Given the description of an element on the screen output the (x, y) to click on. 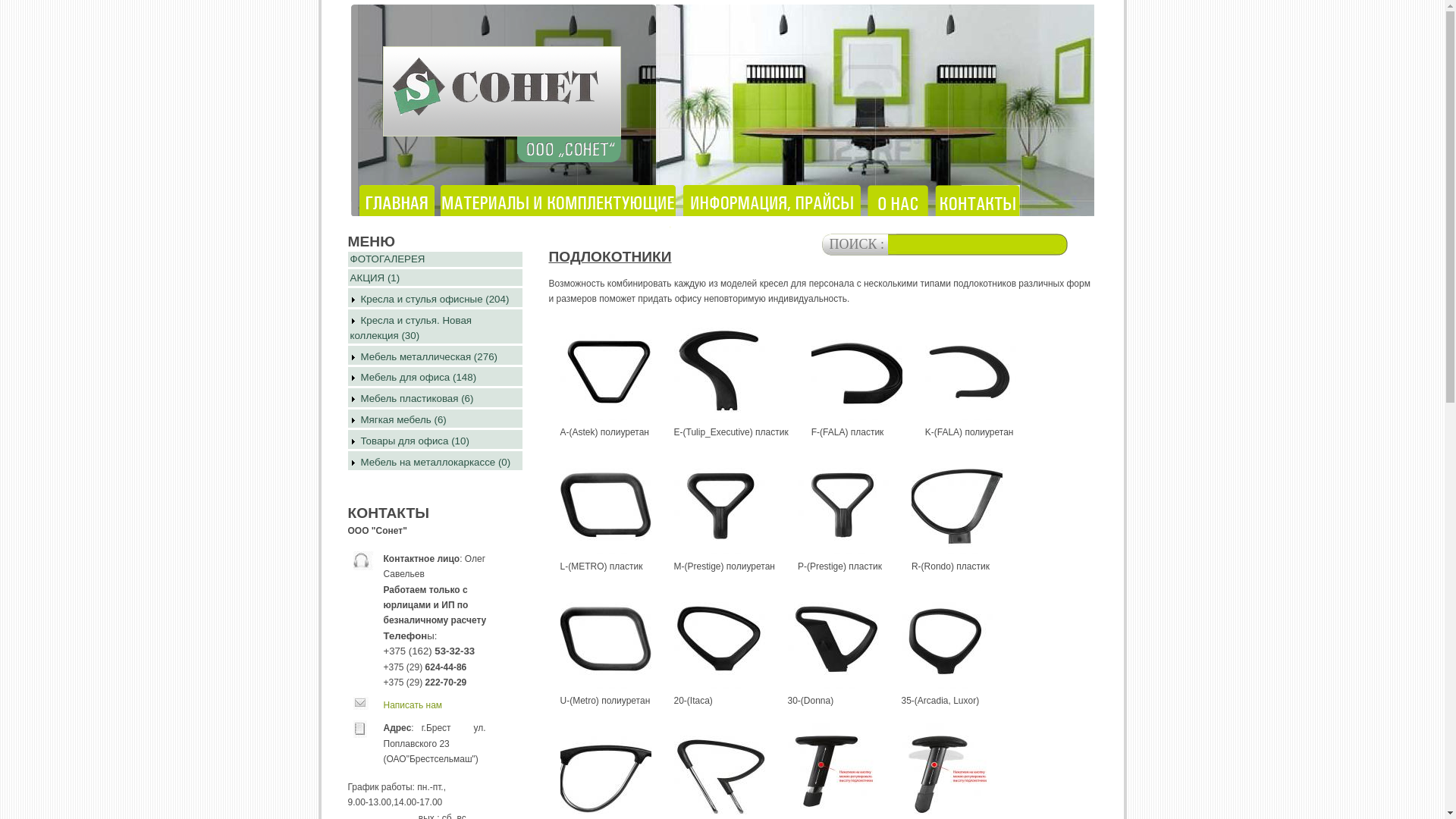
. Element type: text (901, 208)
20-(Itaca) Element type: hover (718, 638)
30-(Donna) Element type: hover (832, 638)
. Element type: text (561, 209)
. Element type: text (775, 208)
. Element type: text (980, 208)
. Element type: text (400, 208)
35-(Arcadia, Luxor) Element type: hover (945, 638)
